Given the description of an element on the screen output the (x, y) to click on. 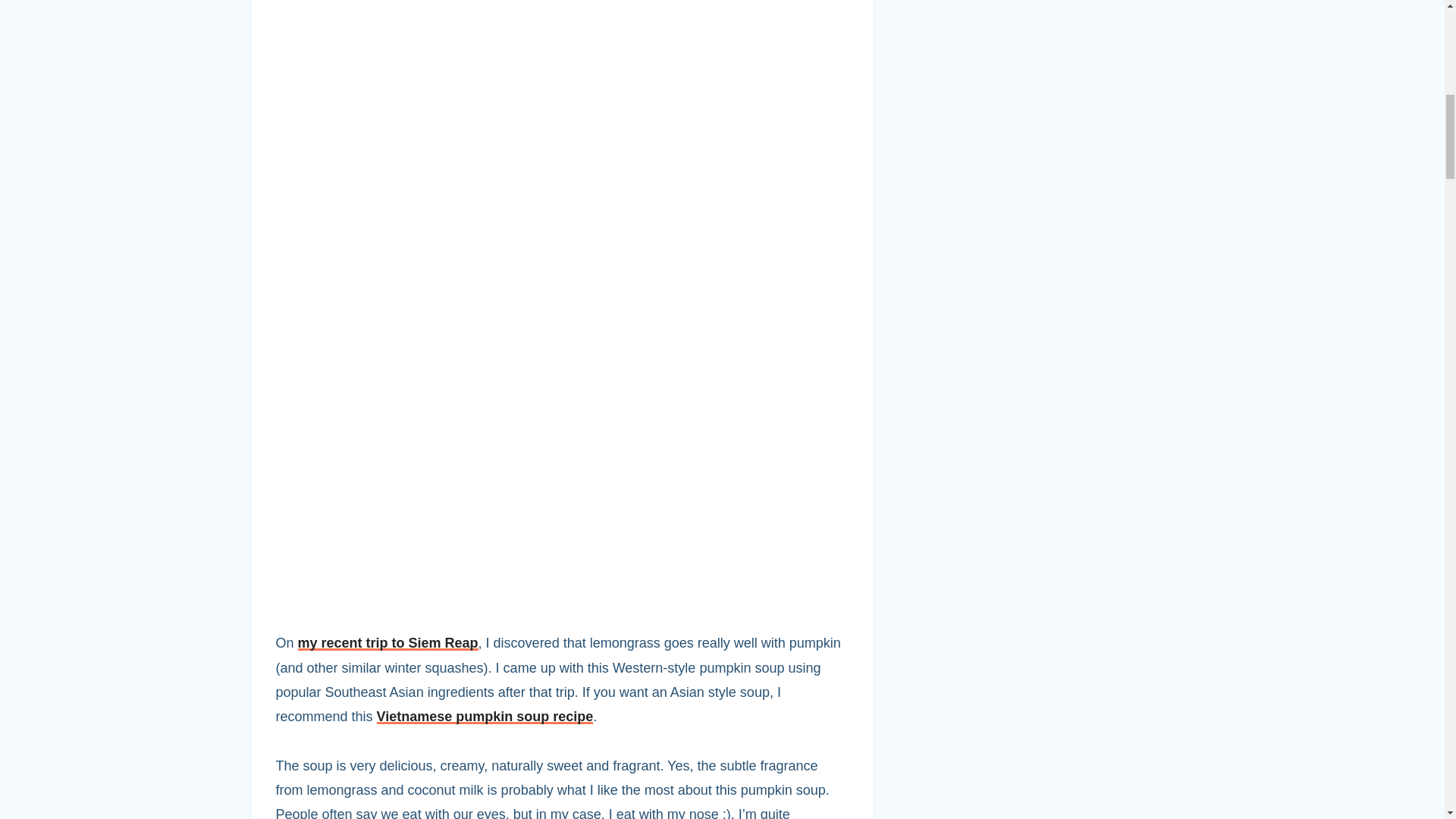
Vietnamese pumpkin soup recipe (485, 716)
my recent trip to Siem Reap (388, 642)
